Given the description of an element on the screen output the (x, y) to click on. 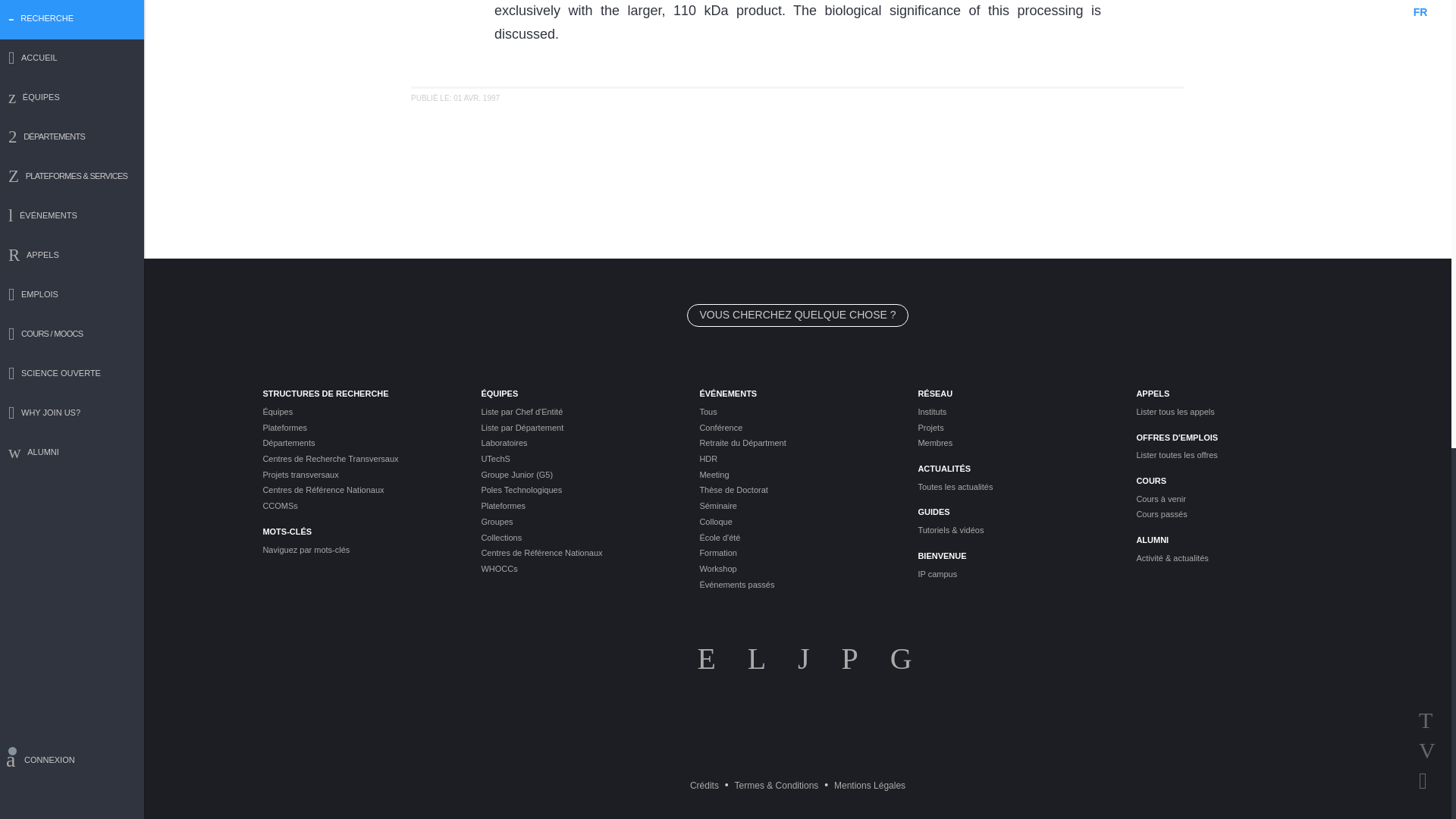
Plateformes (360, 427)
